Given the description of an element on the screen output the (x, y) to click on. 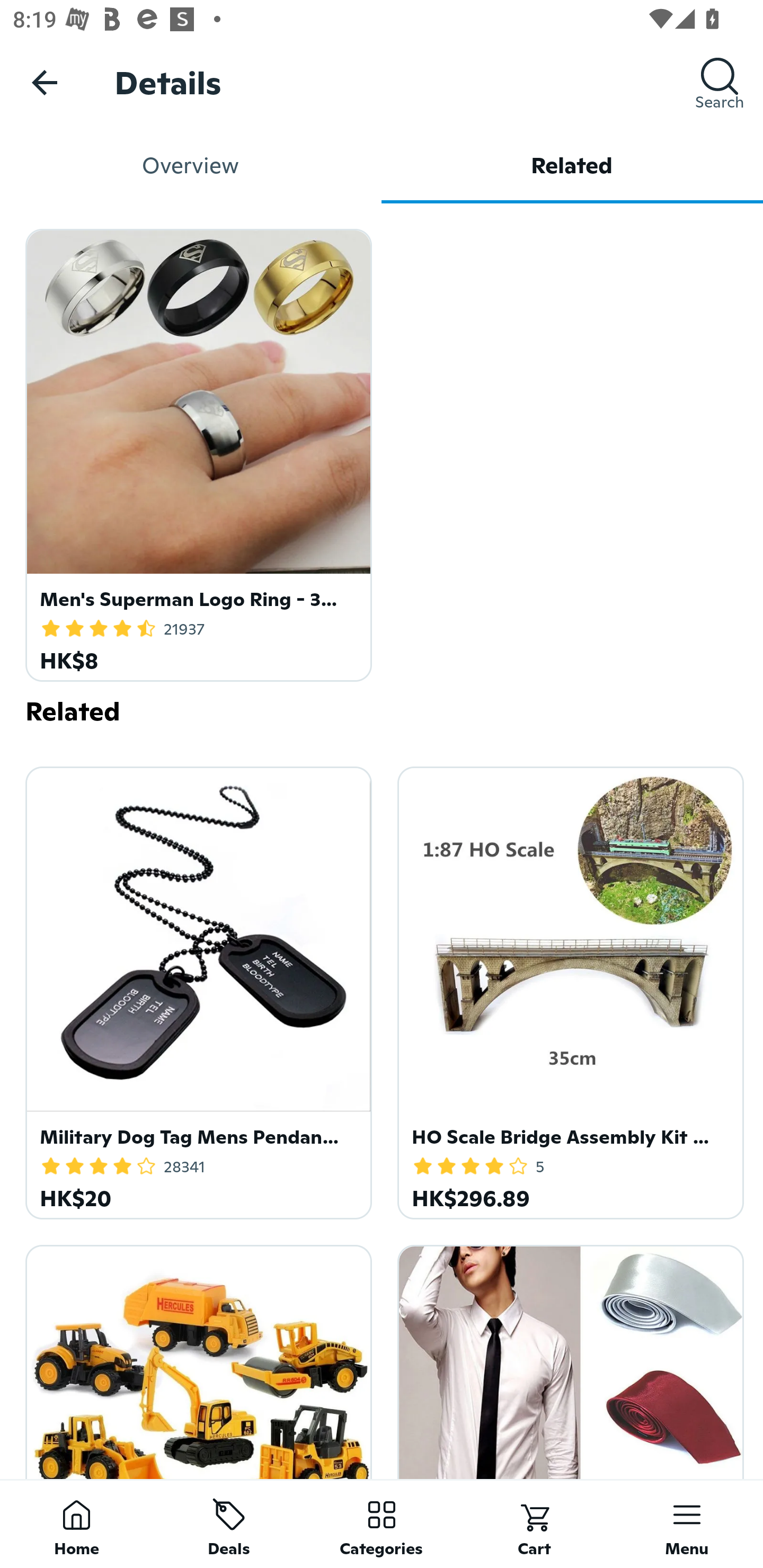
Navigate up (44, 82)
Search (719, 82)
Overview (190, 165)
Home (76, 1523)
Deals (228, 1523)
Categories (381, 1523)
Cart (533, 1523)
Menu (686, 1523)
